Given the description of an element on the screen output the (x, y) to click on. 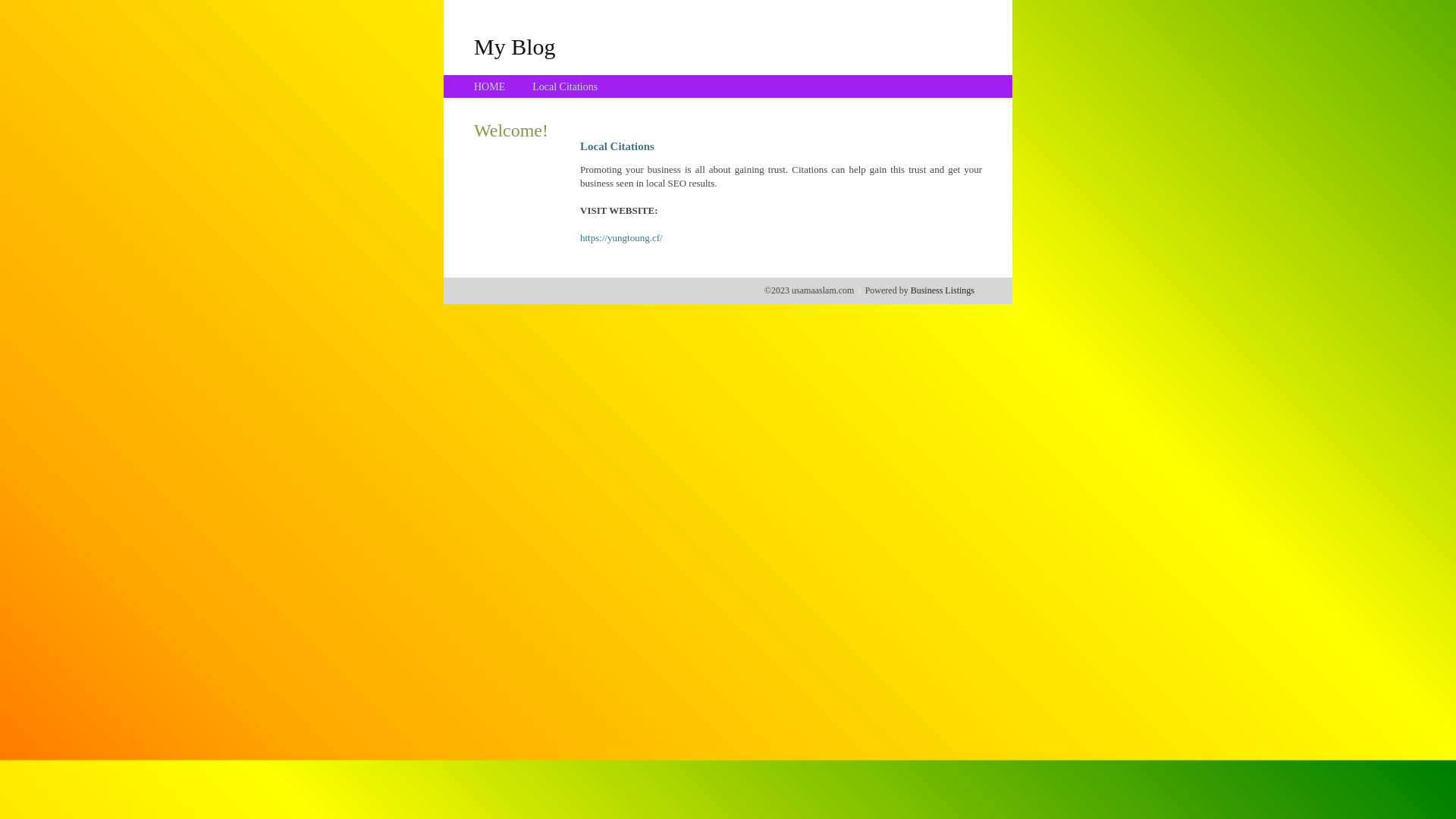
Local Citations Element type: text (564, 86)
Business Listings Element type: text (942, 290)
https://yungtoung.cf/ Element type: text (621, 237)
My Blog Element type: text (514, 46)
HOME Element type: text (489, 86)
